Given the description of an element on the screen output the (x, y) to click on. 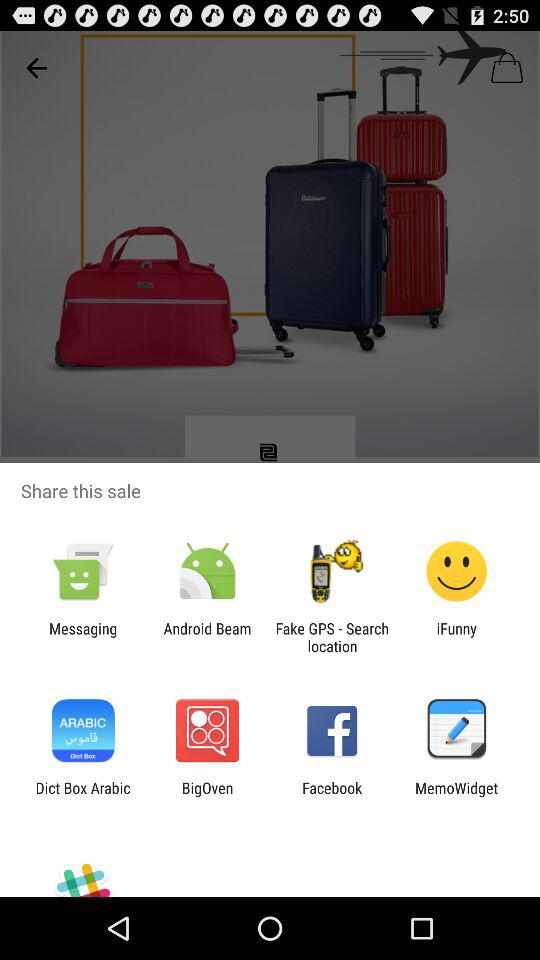
tap the app next to the facebook (207, 796)
